Given the description of an element on the screen output the (x, y) to click on. 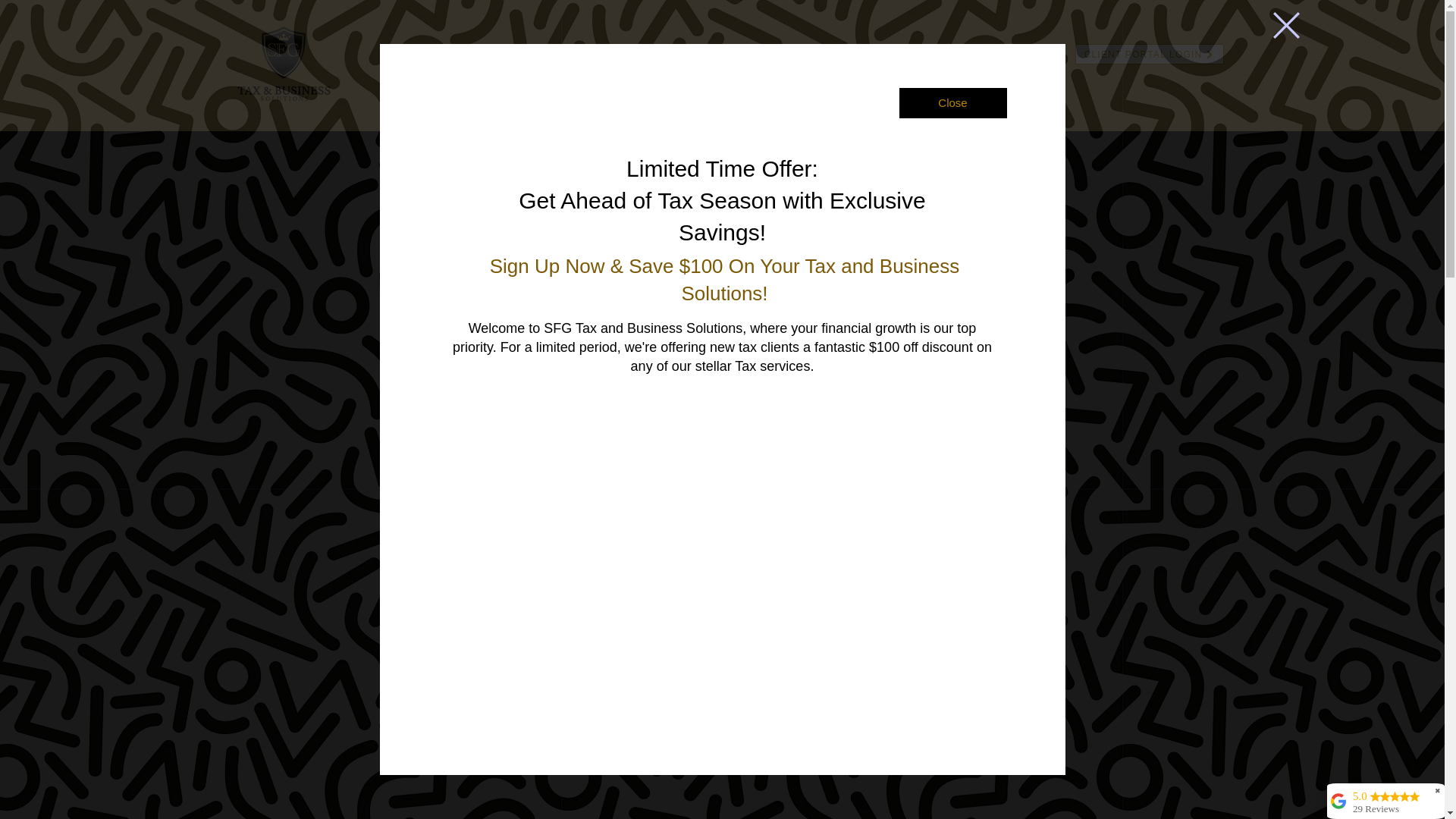
Back to site (1285, 25)
Supreme Financial Group Logo (283, 65)
About (558, 53)
CLIENT PORTAL LOGIN (1149, 54)
Business Solutions Services (796, 53)
Tax Services (645, 53)
Home (495, 53)
Bookings (936, 53)
